Given the description of an element on the screen output the (x, y) to click on. 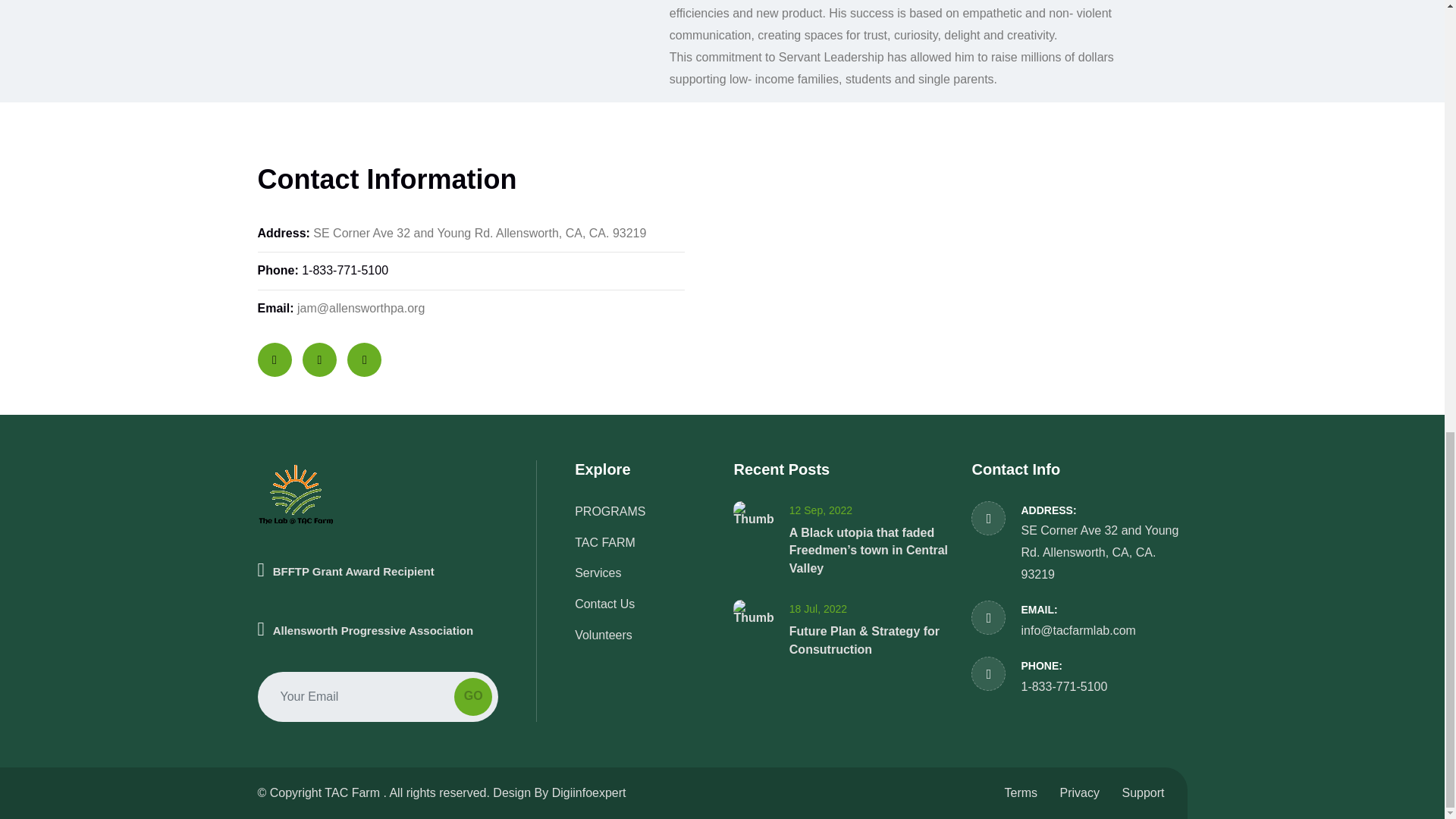
Allensworth Progressive Association (378, 630)
BFFTP Grant Award Recipient (378, 606)
1-833-771-5100 (1063, 686)
TAC FARM (604, 542)
Terms (1021, 792)
Contact Us (604, 603)
Support (1142, 792)
Services (598, 572)
Privacy (1079, 792)
1-833-771-5100 (344, 269)
